Given the description of an element on the screen output the (x, y) to click on. 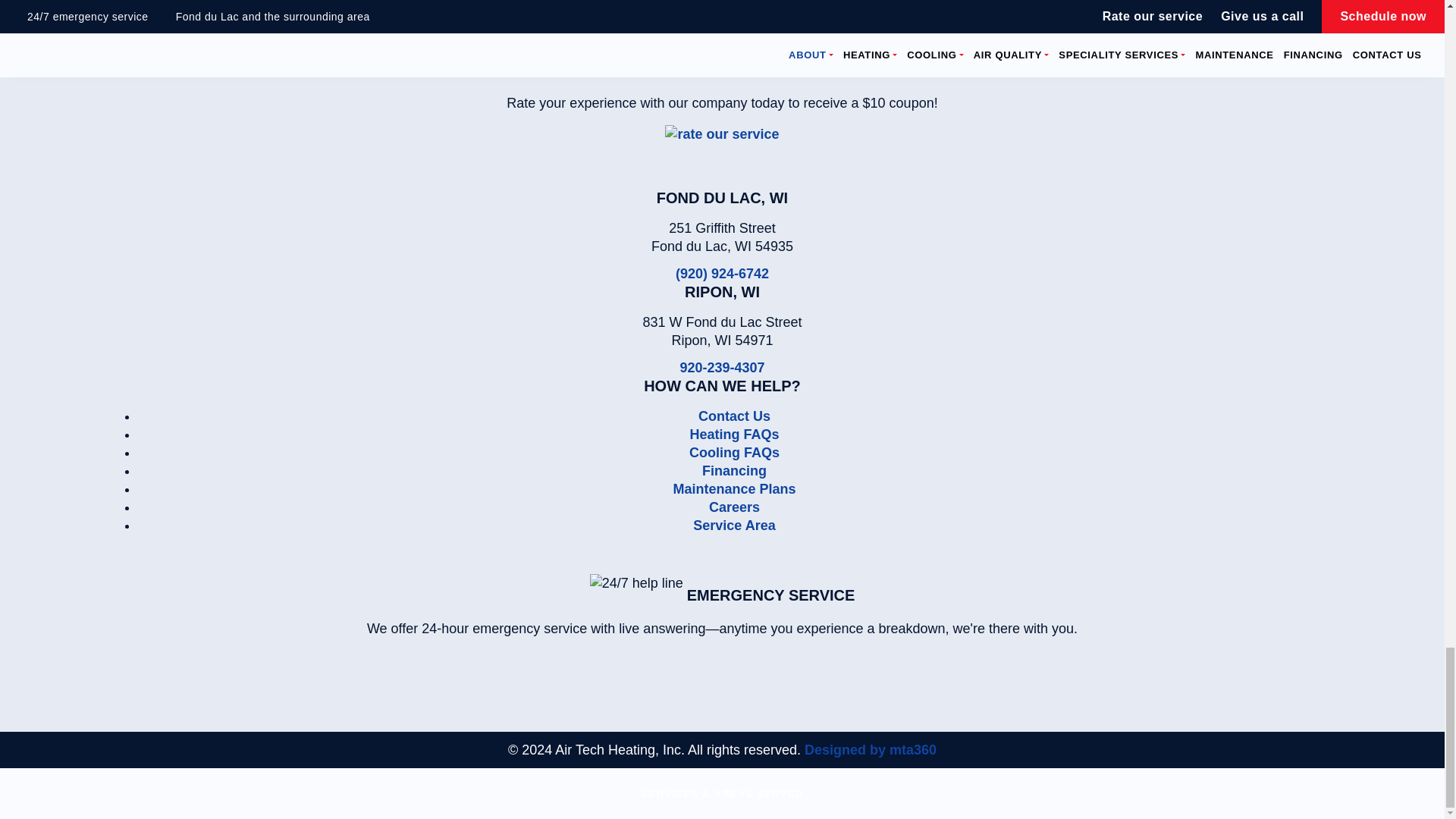
Website Designed by mta360 (870, 749)
